Given the description of an element on the screen output the (x, y) to click on. 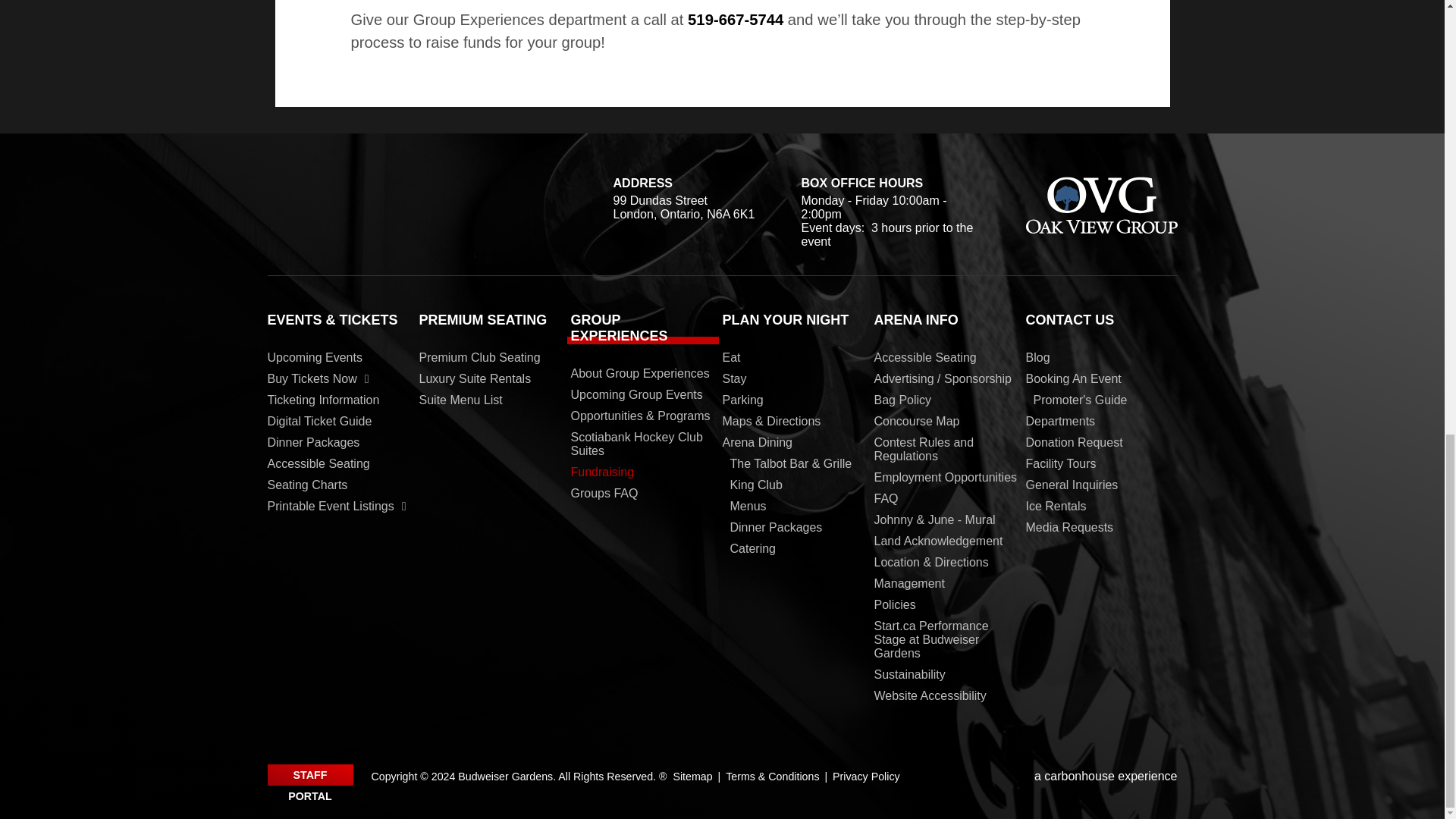
Budweiser Gardens (372, 202)
a carbonhouse experience (1105, 776)
Oak View Group Link (1100, 205)
